Given the description of an element on the screen output the (x, y) to click on. 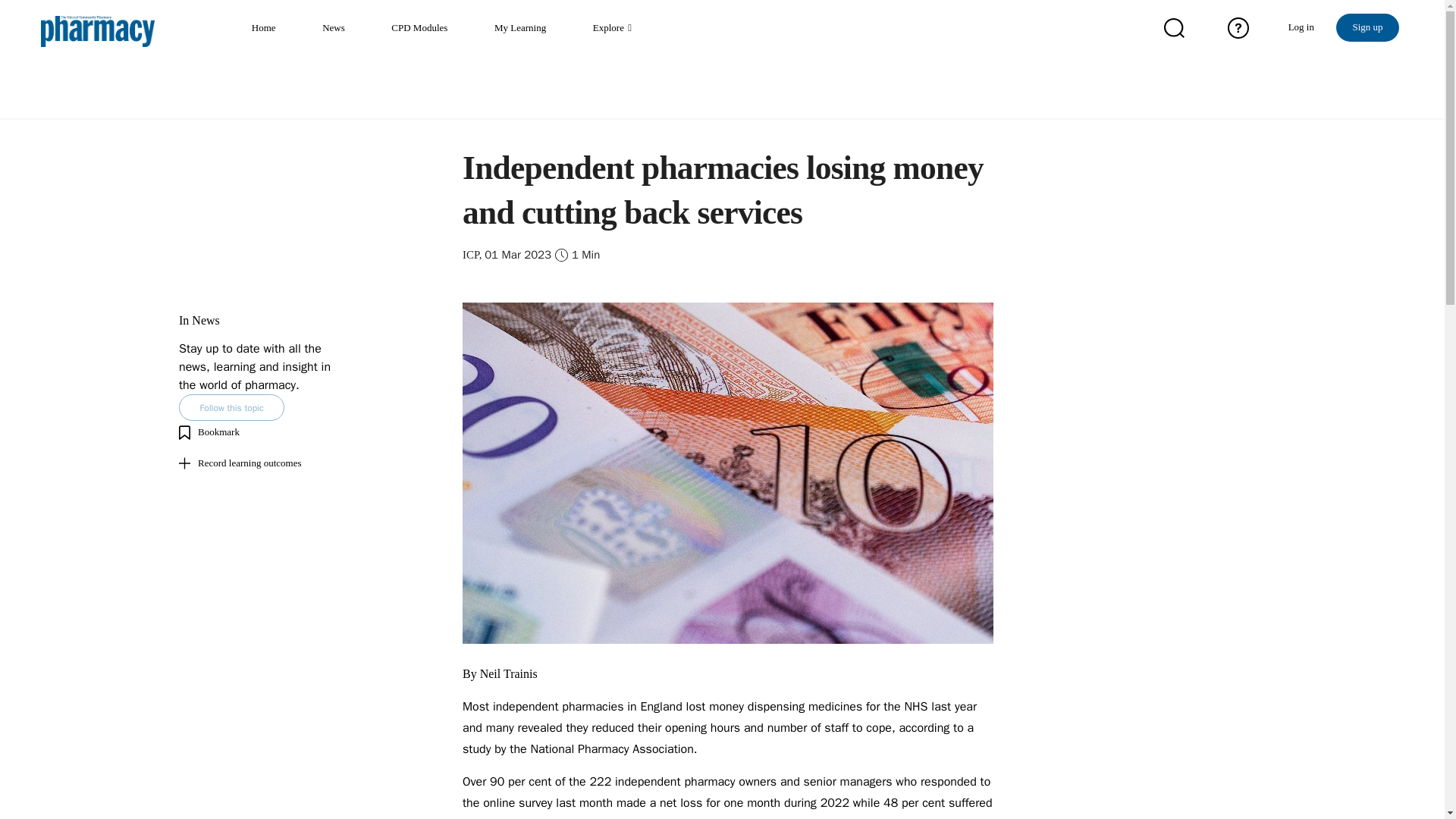
CPD Modules (424, 33)
News (338, 33)
Explore (613, 32)
Home (268, 33)
My Learning (525, 33)
Log in (1300, 27)
Sign up (1366, 27)
